Given the description of an element on the screen output the (x, y) to click on. 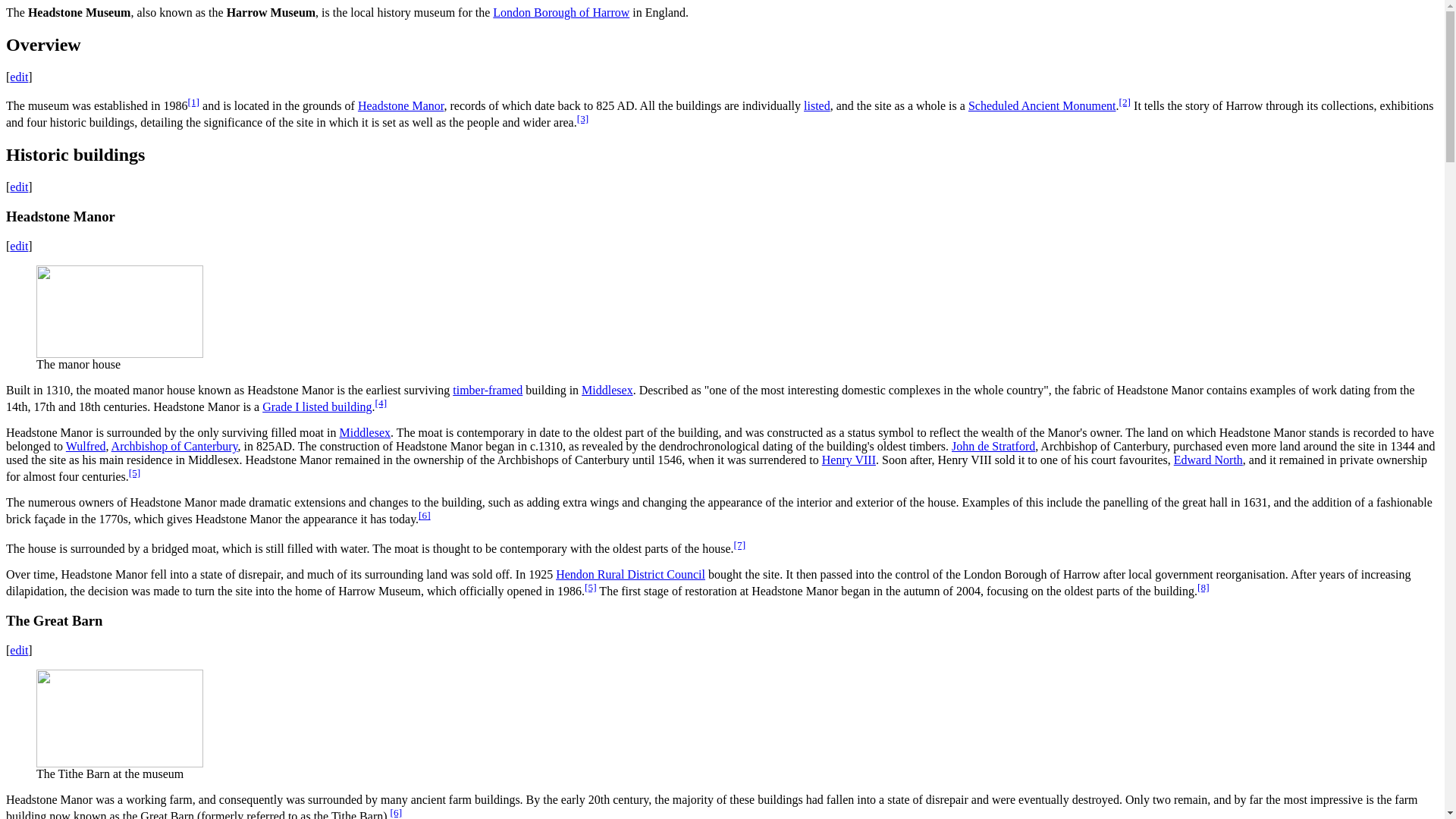
Henry VIII (849, 459)
Edit section: Historic buildings (18, 186)
Grade I listed building (316, 406)
Wulfred (85, 445)
Hendon Rural District Council (630, 574)
London Borough of Harrow (560, 11)
Edward North (1208, 459)
edit (18, 245)
Headstone Manor (401, 105)
John de Stratford (993, 445)
listed (816, 105)
Hendon Rural District Council (630, 574)
Middlesex (606, 390)
Henry VIII (849, 459)
edit (18, 649)
